Given the description of an element on the screen output the (x, y) to click on. 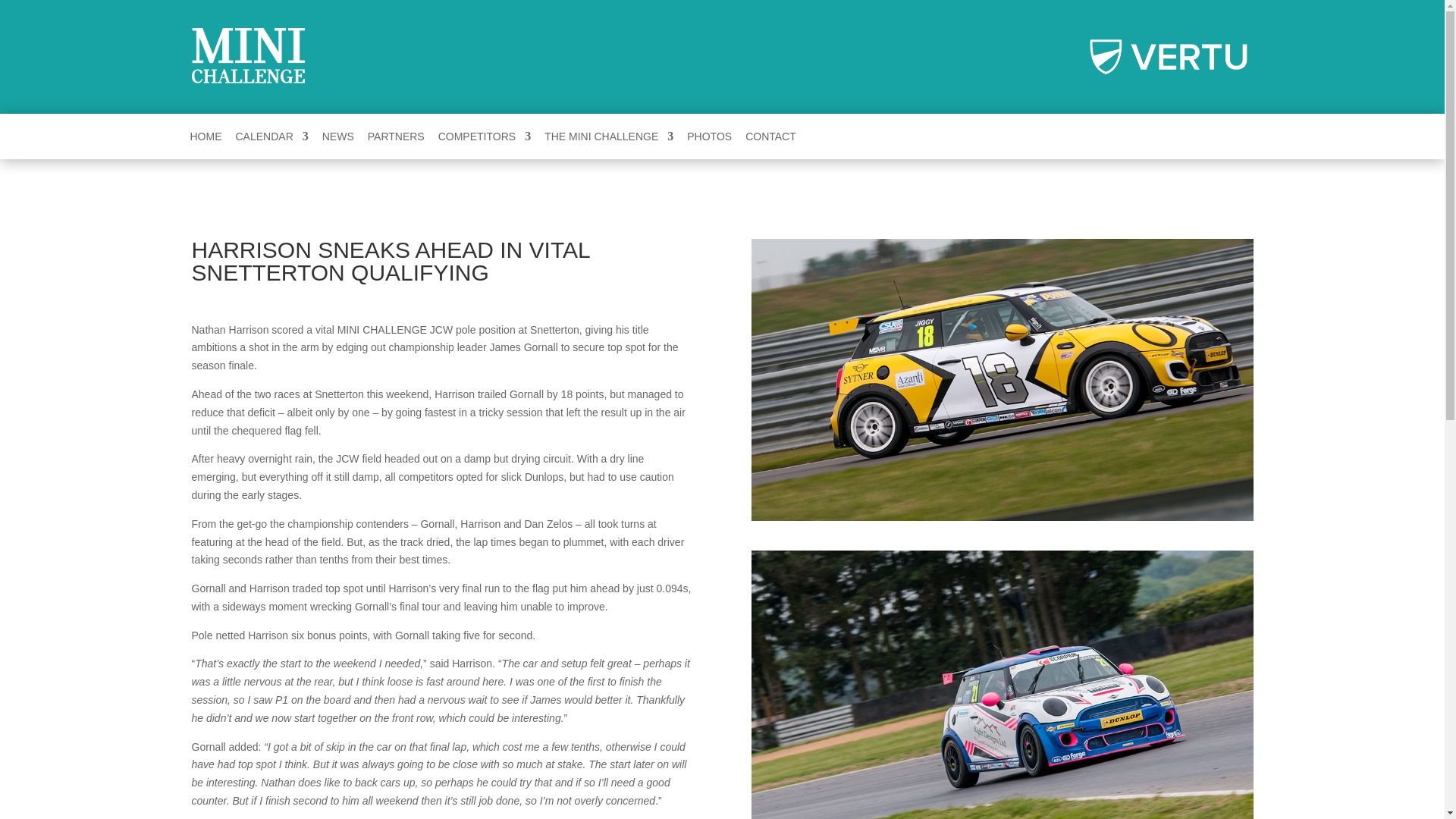
vertu (1169, 56)
